Given the description of an element on the screen output the (x, y) to click on. 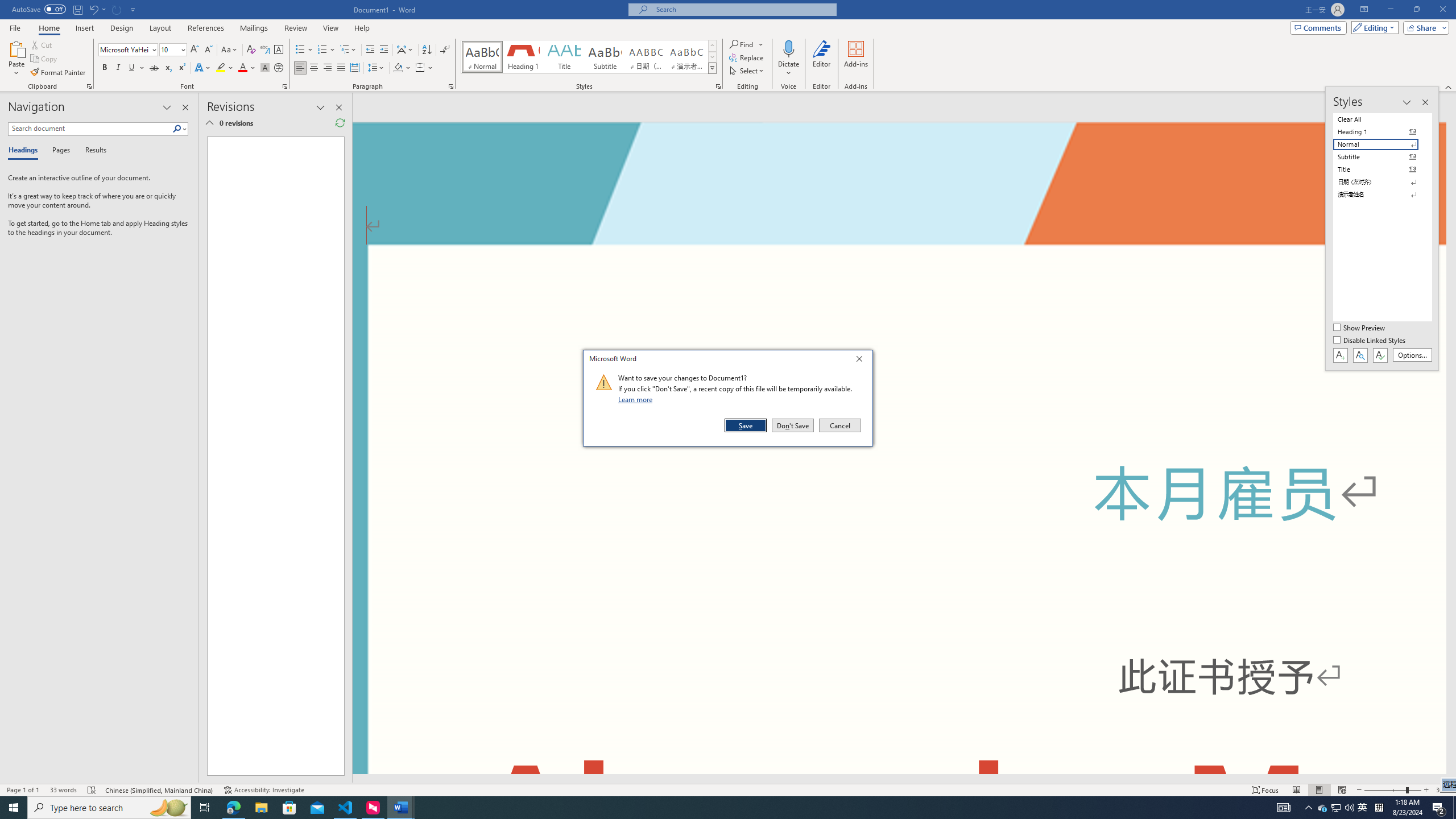
Show Detailed Summary (209, 122)
